Given the description of an element on the screen output the (x, y) to click on. 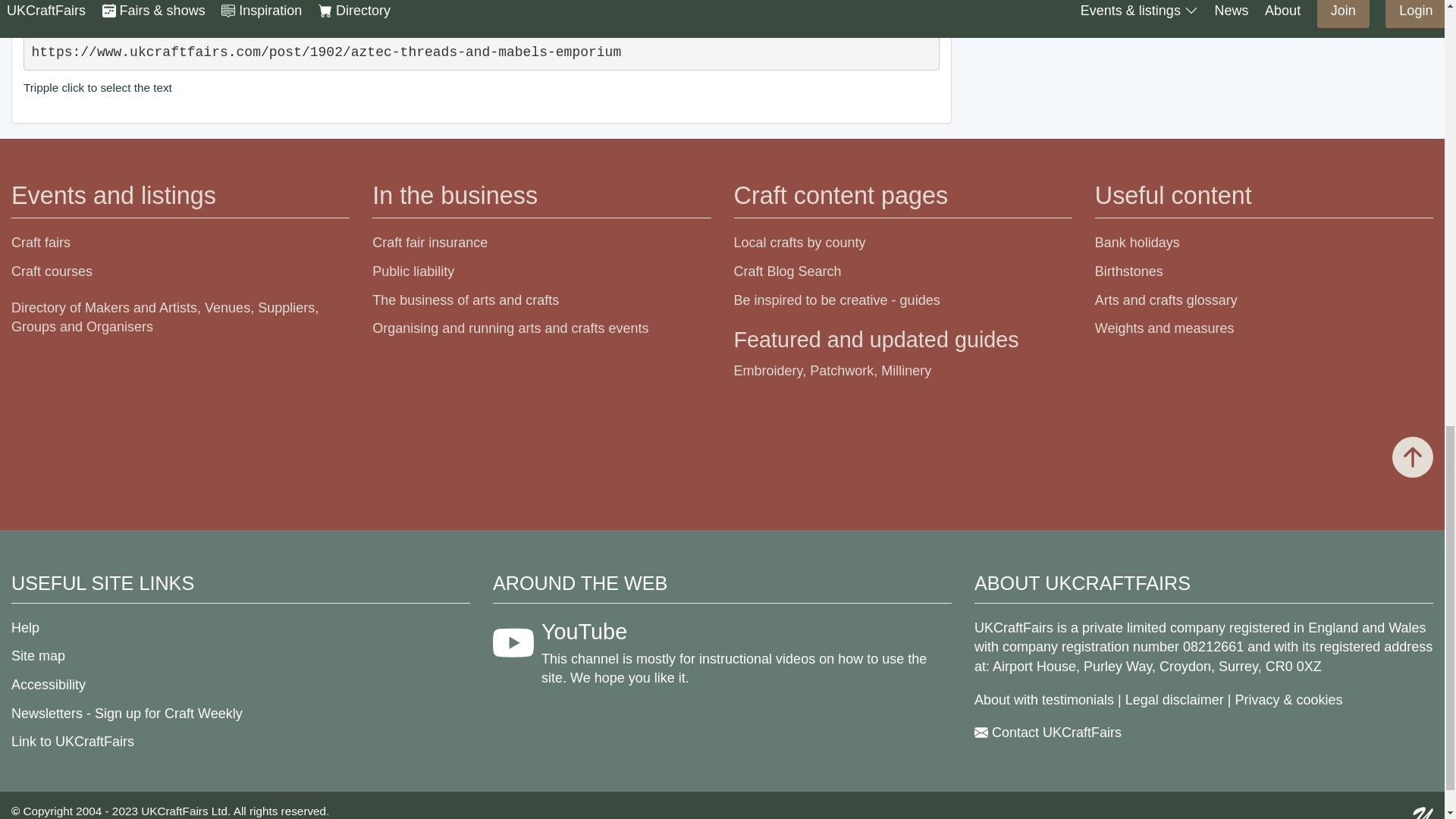
Craft fairs (40, 242)
Craft courses (52, 271)
